Given the description of an element on the screen output the (x, y) to click on. 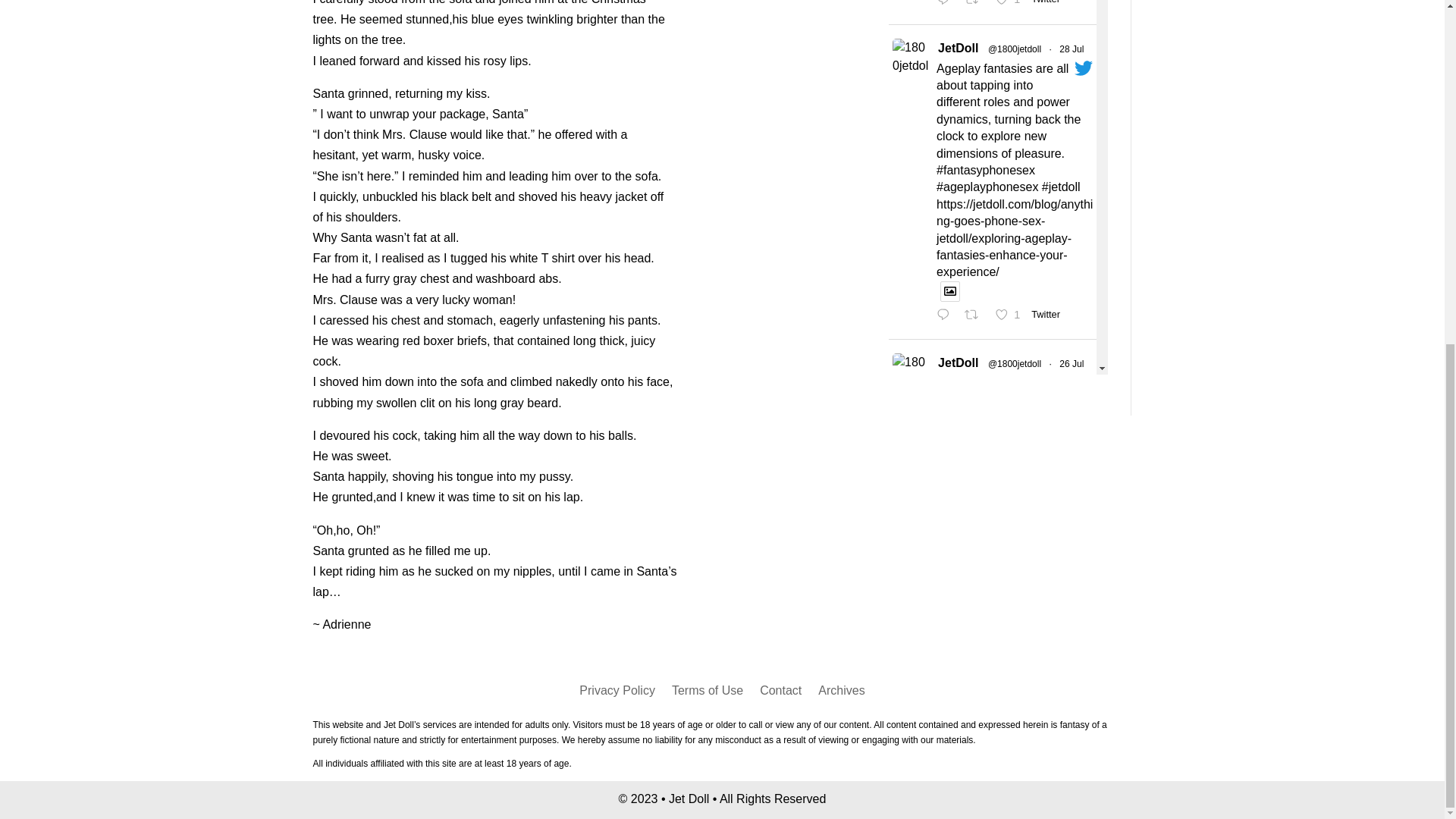
28 Jul (1071, 48)
JetDoll (957, 47)
Retweet on Twitter 1817571848697045209 (1009, 6)
Twitter 1817571848697045209 (975, 315)
Reply on Twitter 1817961908571431381 (1048, 314)
Retweet on Twitter 1817961908571431381 (946, 6)
Reply on Twitter 1817571848697045209 (1009, 315)
JetDoll (975, 6)
